Given the description of an element on the screen output the (x, y) to click on. 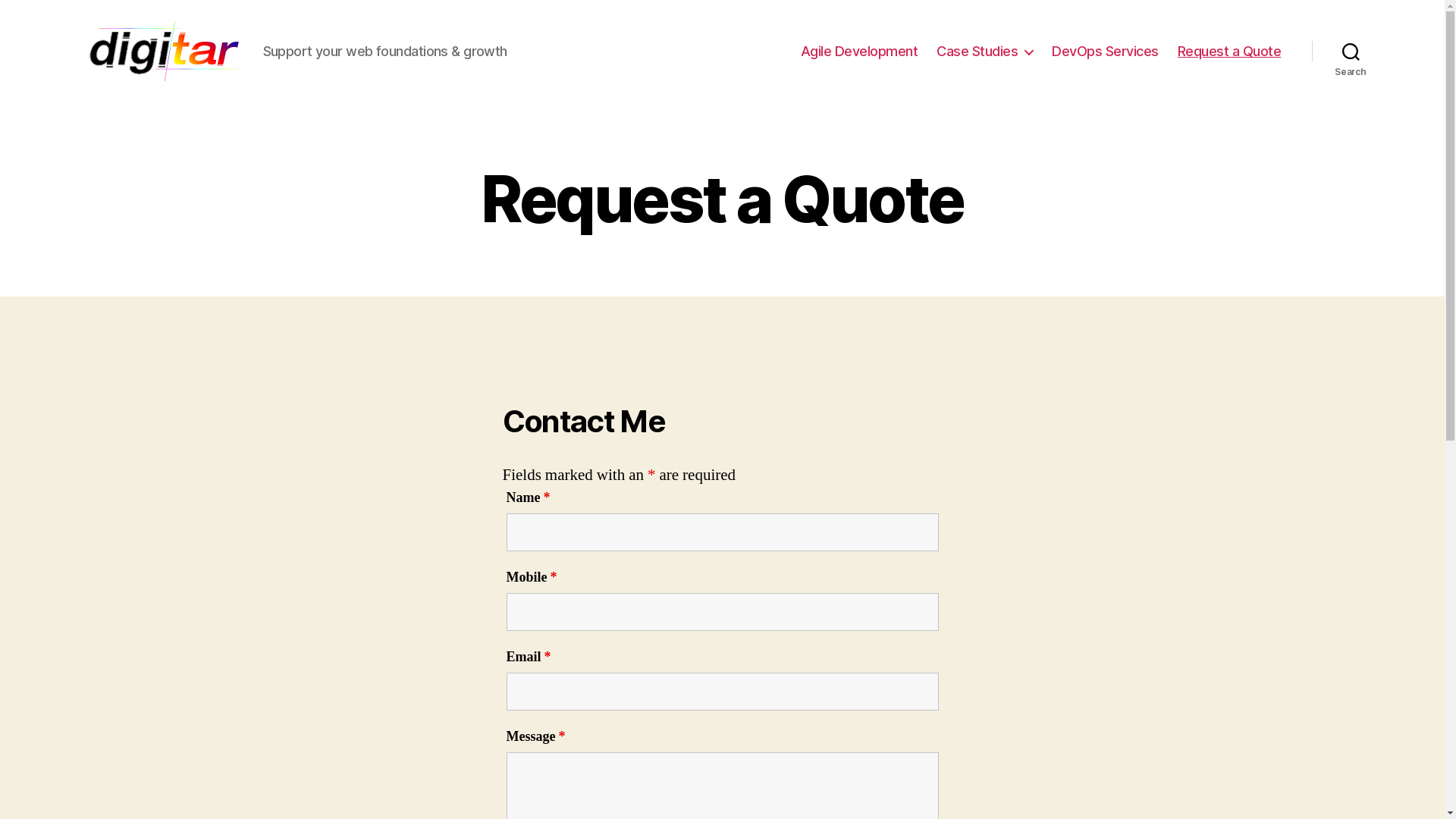
Request a Quote Element type: text (1229, 51)
Search Element type: text (1350, 51)
DevOps Services Element type: text (1104, 51)
Case Studies Element type: text (984, 51)
Agile Development Element type: text (859, 51)
